Given the description of an element on the screen output the (x, y) to click on. 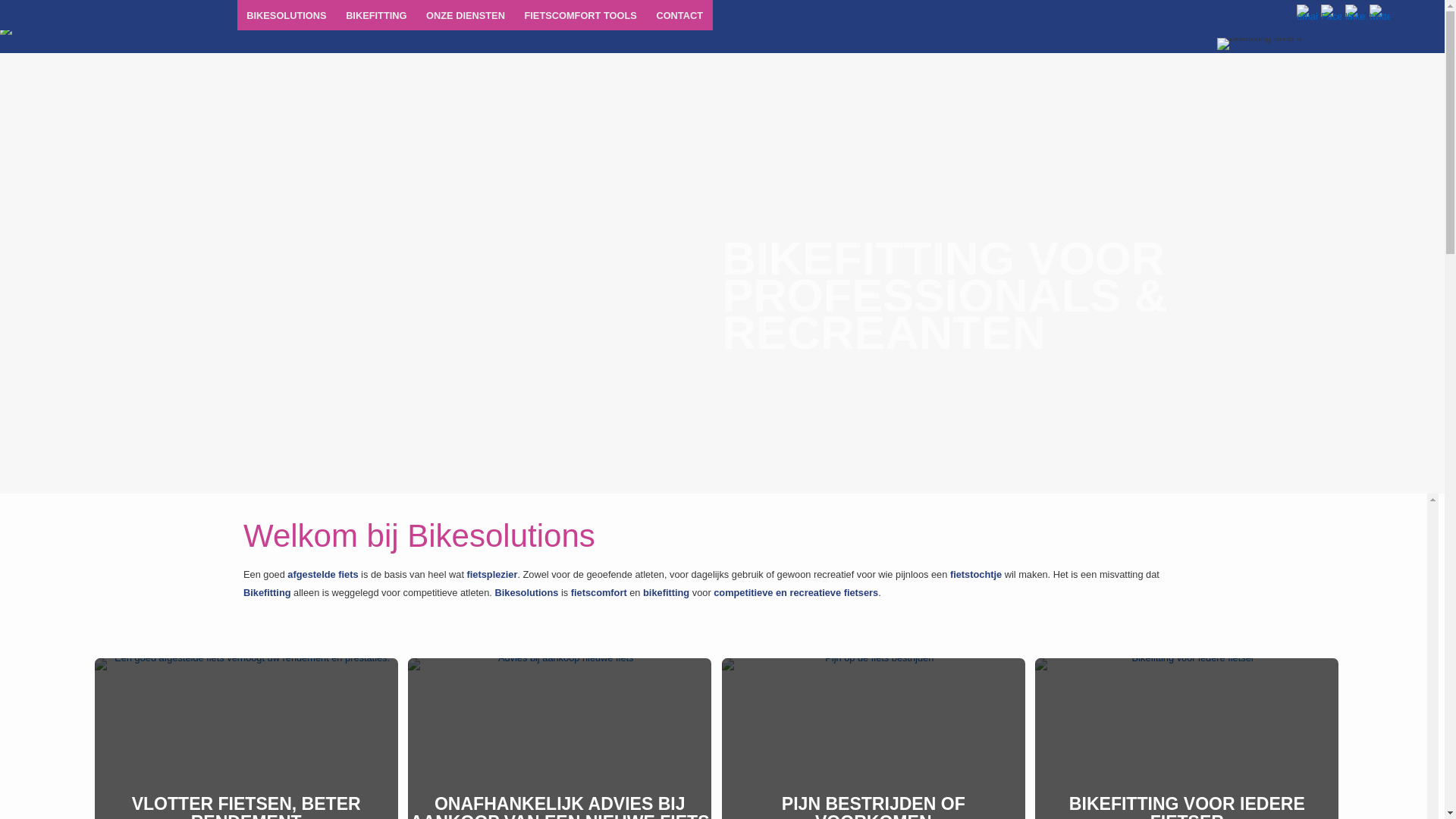
BIKEFITTING Element type: text (375, 15)
ONZE DIENSTEN Element type: text (465, 15)
FIETSCOMFORT TOOLS Element type: text (580, 15)
CONTACT Element type: text (679, 15)
BIKESOLUTIONS Element type: text (285, 15)
